Given the description of an element on the screen output the (x, y) to click on. 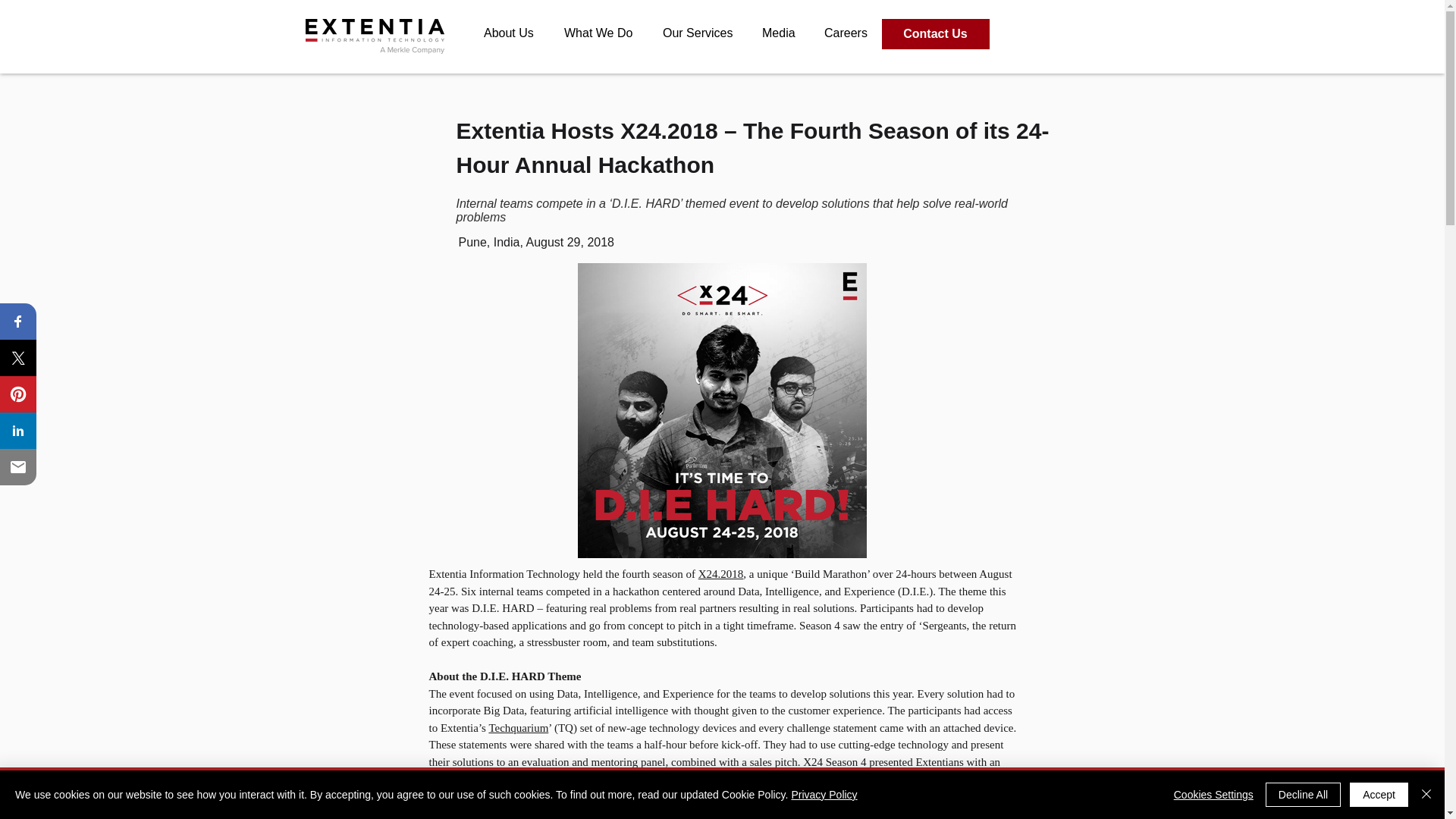
About Us (516, 32)
Contact Us (934, 33)
What We Do (604, 32)
Contact Us (933, 32)
Media (784, 32)
X24.2018 (721, 573)
Site Search (1078, 35)
Techquarium (517, 727)
Careers (851, 32)
Our Services (703, 32)
